Given the description of an element on the screen output the (x, y) to click on. 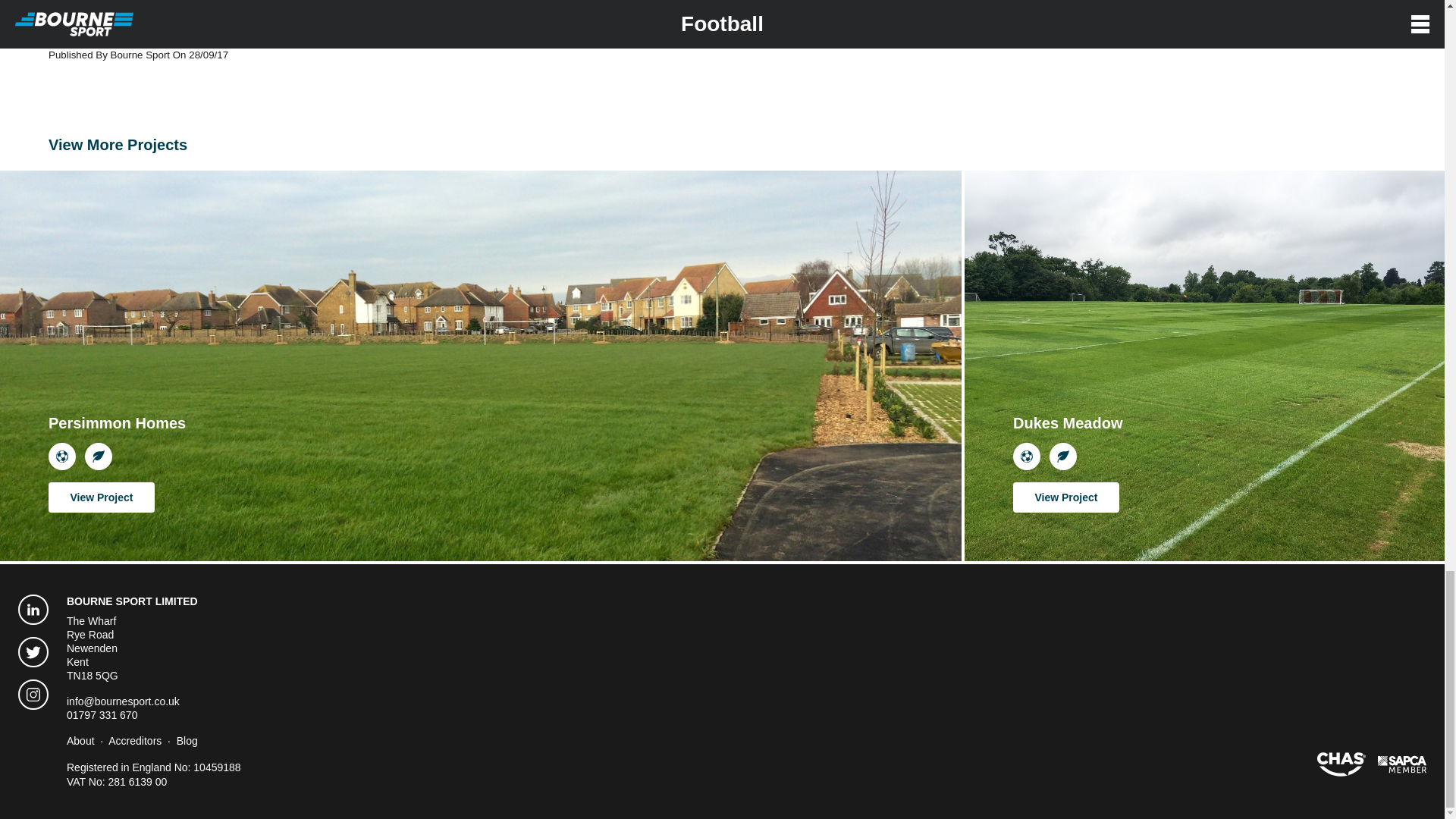
Dukes Meadow (1067, 441)
BOURNE SPORT LIMITED (132, 601)
Persimmon Homes (117, 441)
View Project (101, 496)
View Project (1066, 496)
View Project (1066, 497)
View Project (101, 497)
